Given the description of an element on the screen output the (x, y) to click on. 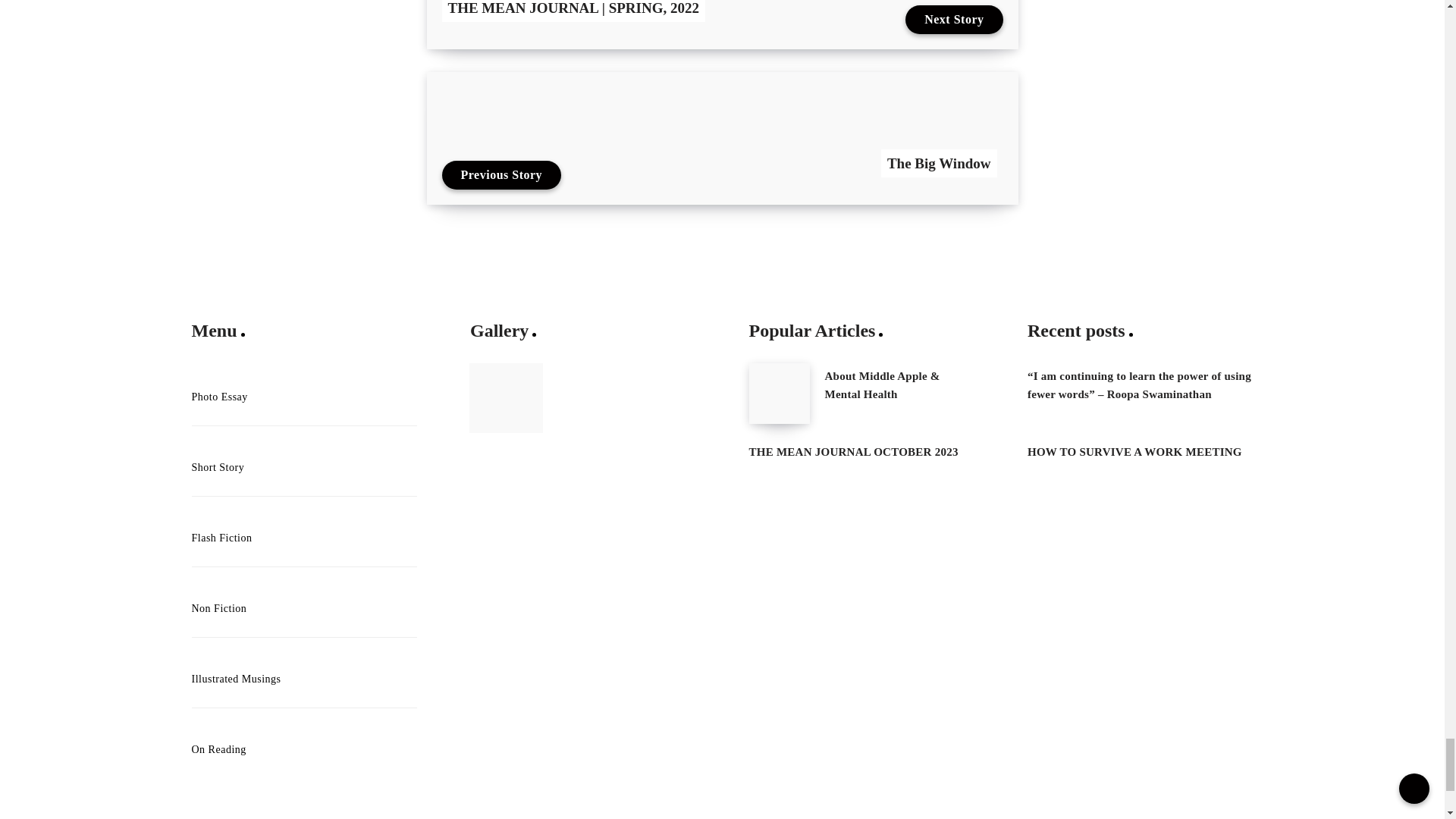
Autumn in Bangalore (505, 398)
